Given the description of an element on the screen output the (x, y) to click on. 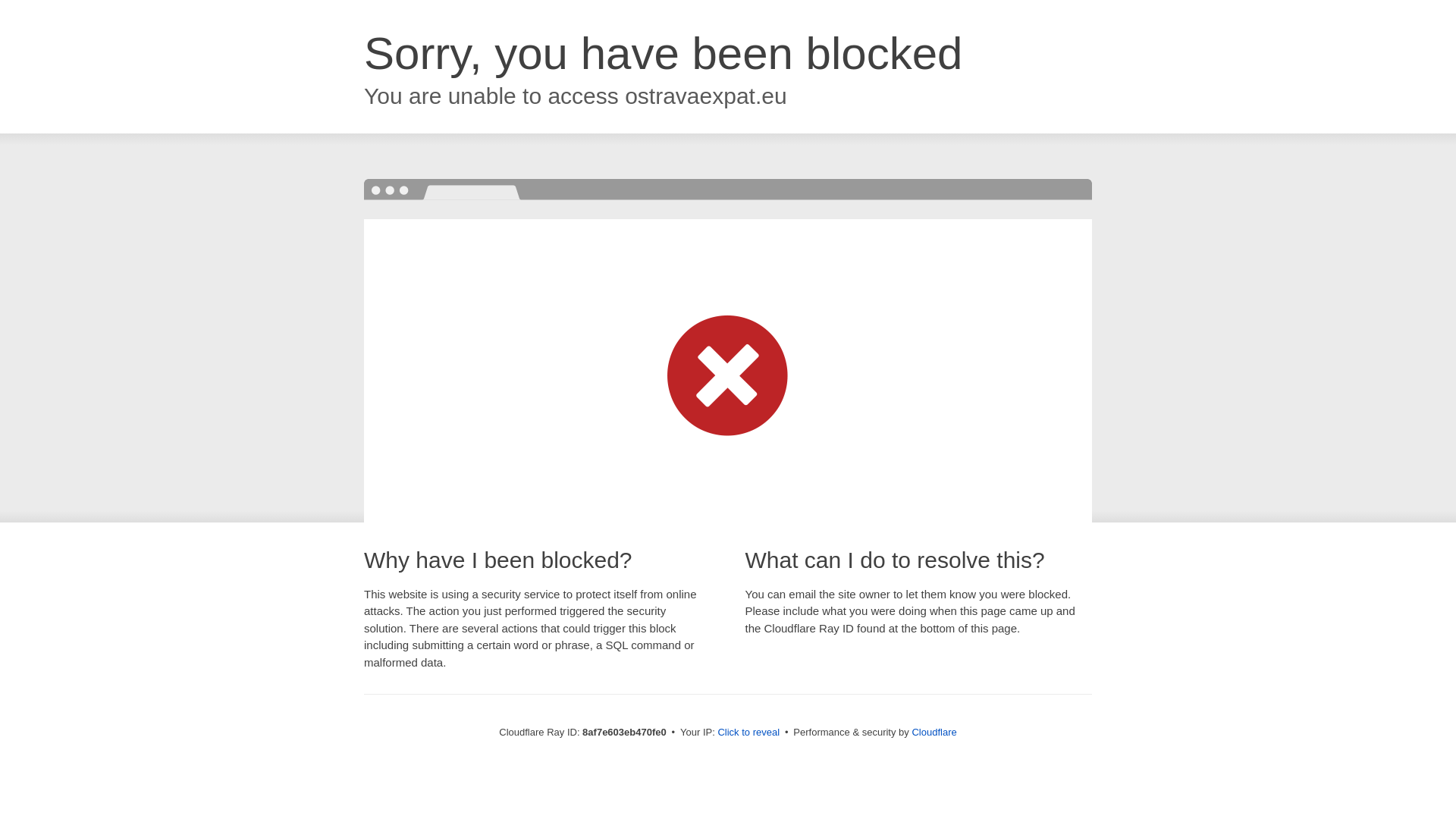
Cloudflare (933, 731)
Click to reveal (747, 732)
